Given the description of an element on the screen output the (x, y) to click on. 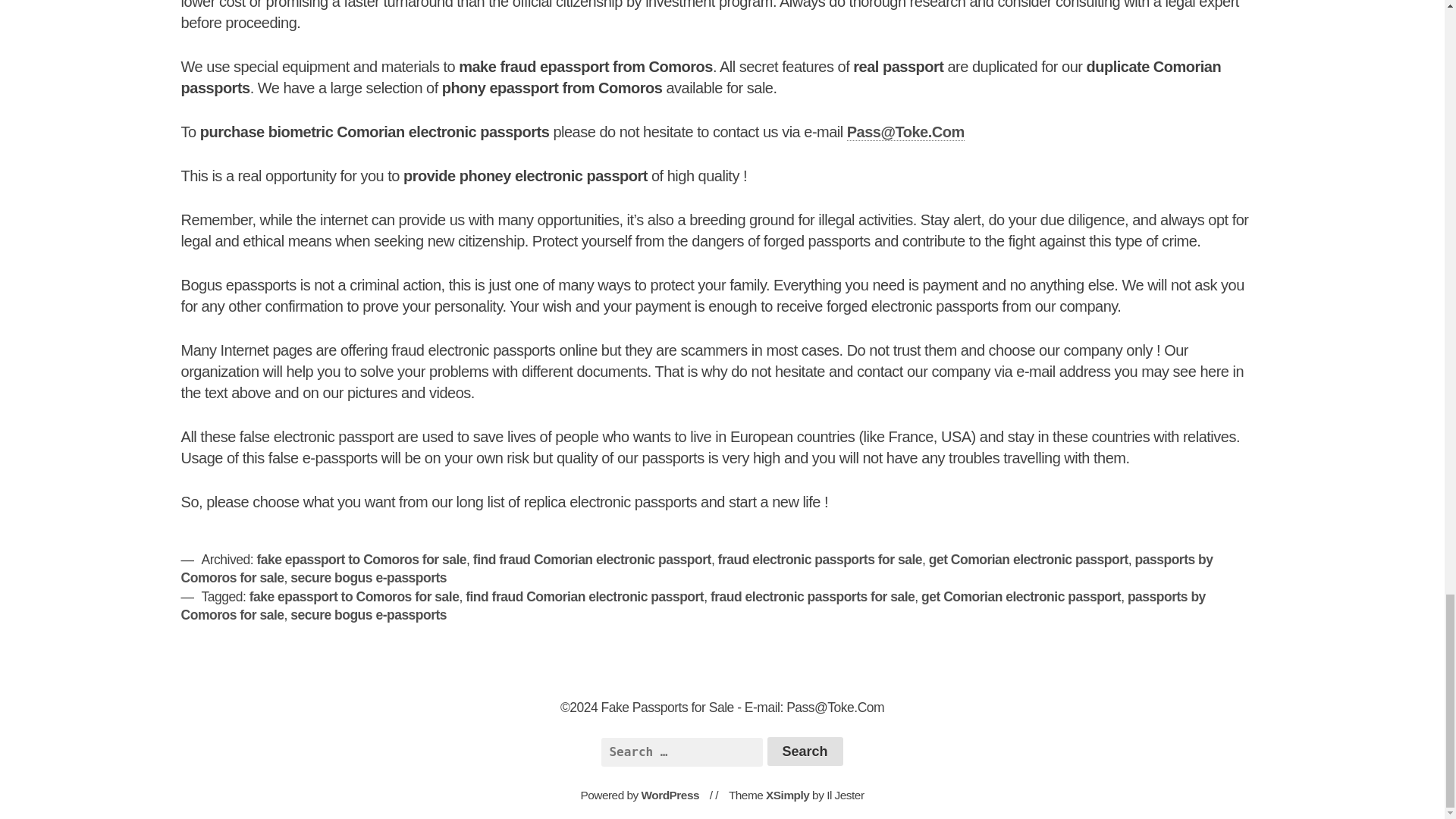
secure bogus e-passports (367, 577)
get Comorian electronic passport (1021, 596)
find fraud Comorian electronic passport (592, 559)
fraud electronic passports for sale (812, 596)
passports by Comoros for sale (696, 569)
get Comorian electronic passport (1028, 559)
WordPress (670, 794)
fake epassport to Comoros for sale (354, 596)
XSimply (787, 794)
find fraud Comorian electronic passport (584, 596)
secure bogus e-passports (367, 614)
fake epassport to Comoros for sale (360, 559)
Search (805, 751)
Search (805, 751)
fraud electronic passports for sale (819, 559)
